Given the description of an element on the screen output the (x, y) to click on. 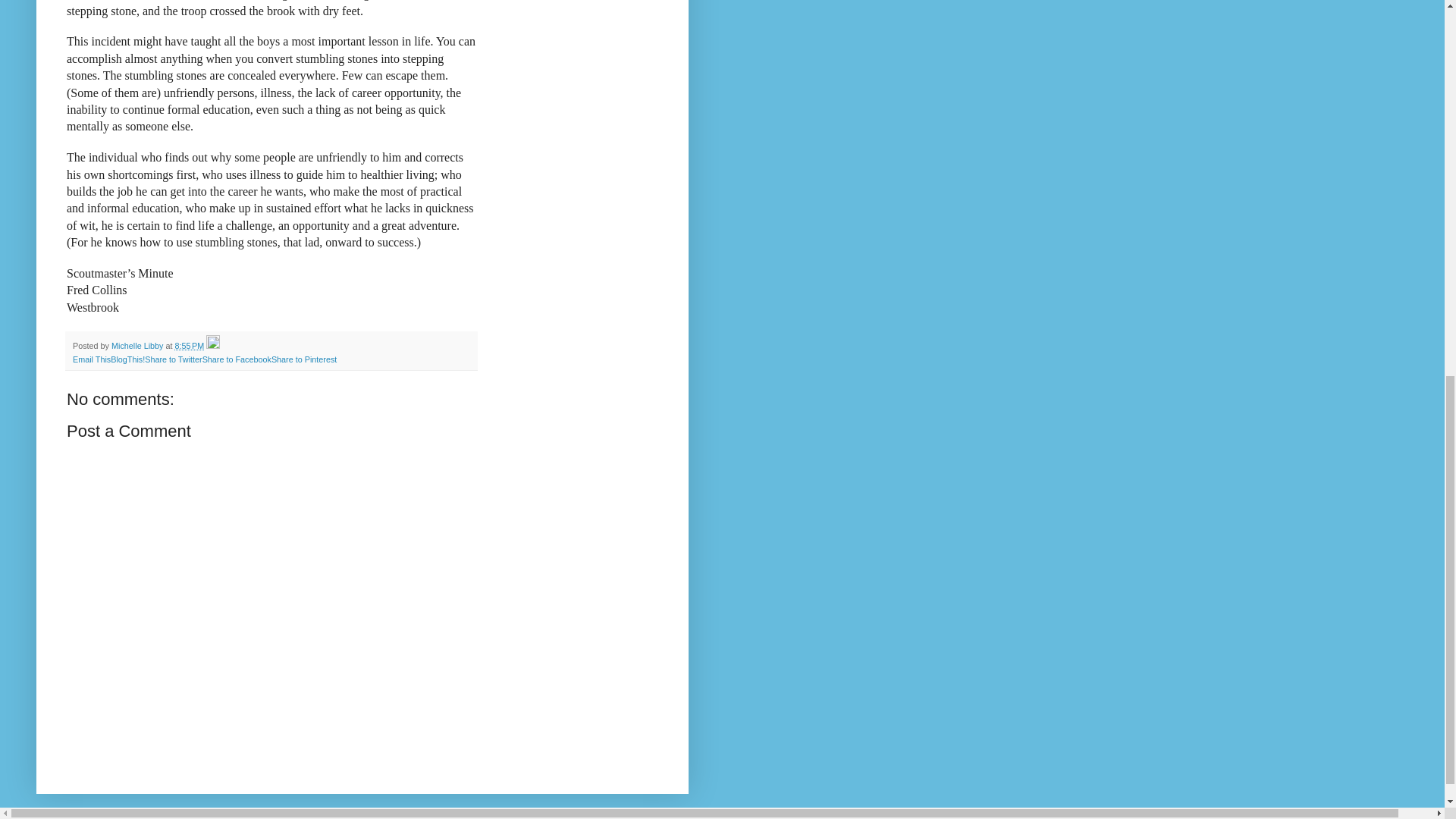
Michelle Libby (138, 345)
BlogThis! (127, 358)
Share to Twitter (173, 358)
Email This (91, 358)
Share to Twitter (173, 358)
Share to Pinterest (303, 358)
Share to Pinterest (303, 358)
permanent link (188, 345)
author profile (138, 345)
BlogThis! (127, 358)
Edit Post (212, 345)
Share to Facebook (236, 358)
Email This (91, 358)
Share to Facebook (236, 358)
